Given the description of an element on the screen output the (x, y) to click on. 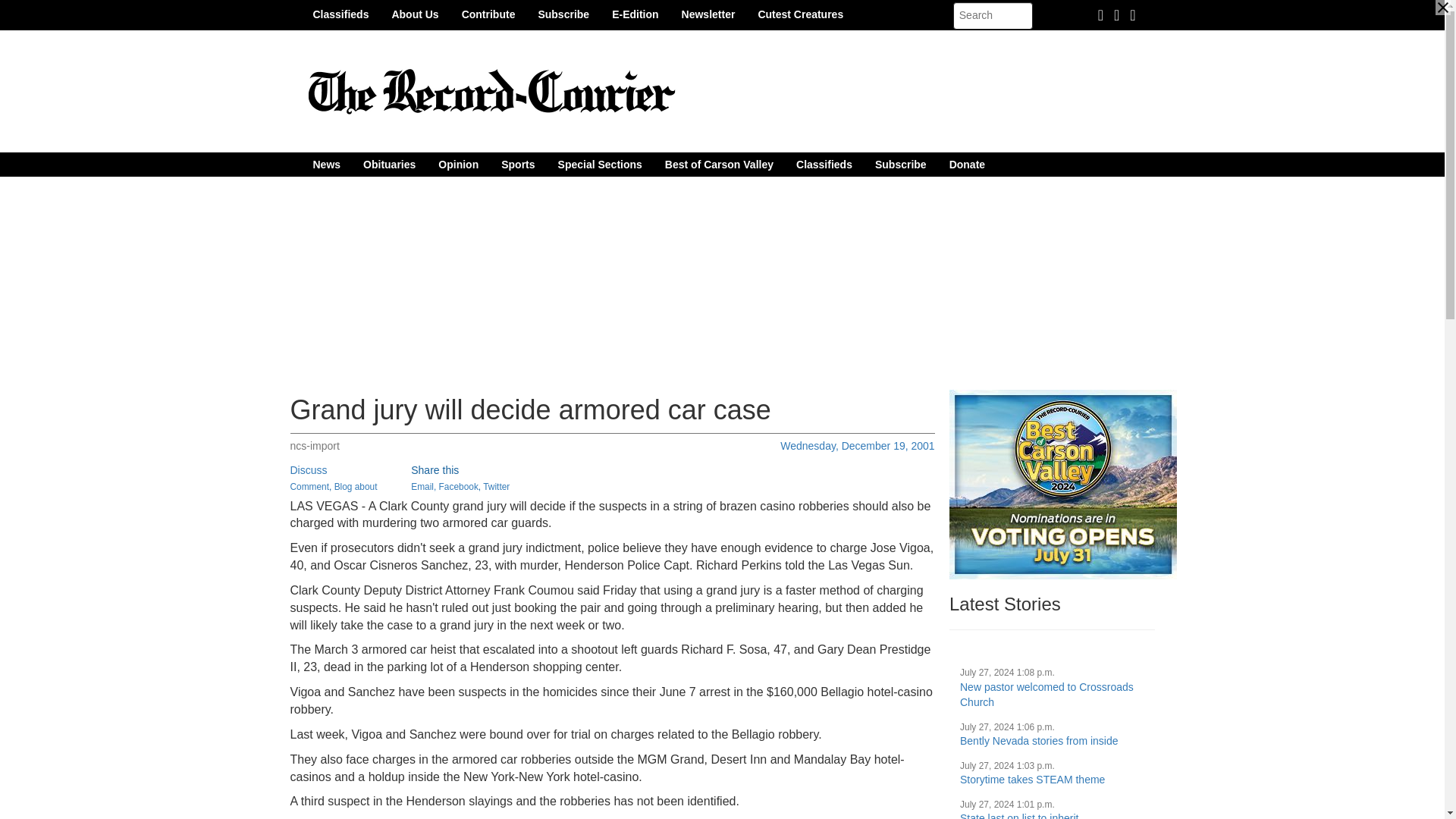
Cutest Creatures (799, 14)
Classifieds (340, 14)
Best of Carson Valley (718, 164)
Contribute (488, 14)
News (326, 164)
Sports (517, 164)
E-Edition (634, 14)
About Us (414, 14)
Subscribe (562, 14)
Classifieds (823, 164)
Newsletter (707, 14)
Special Sections (600, 164)
Obituaries (389, 164)
Subscribe (900, 164)
